Given the description of an element on the screen output the (x, y) to click on. 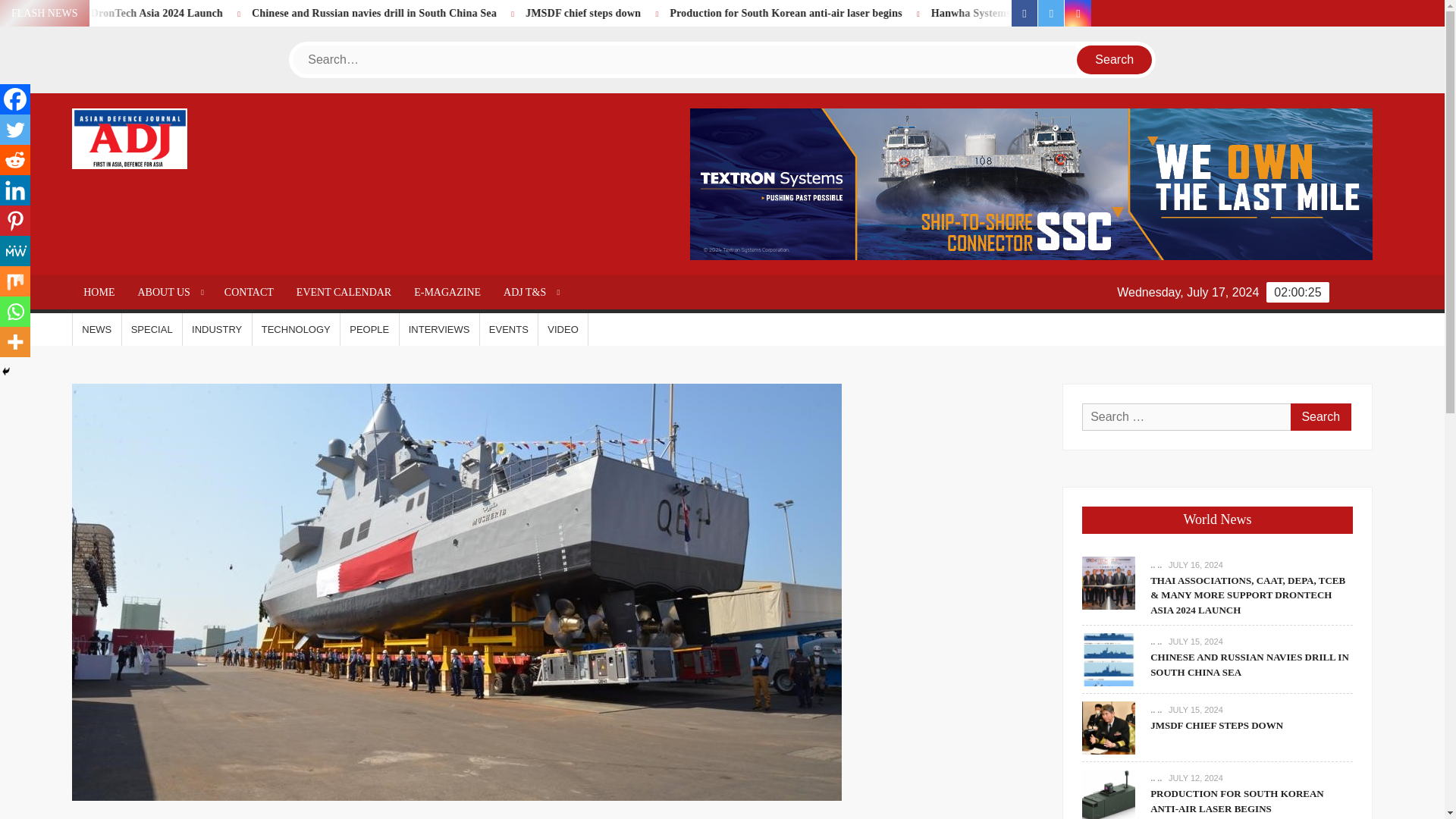
Chinese and Russian navies drill in South China Sea (521, 12)
Search (1320, 416)
Chinese and Russian navies drill in South China Sea (558, 12)
Production for South Korean anti-air laser begins (966, 12)
JMSDF chief steps down (765, 12)
Search (1320, 416)
Production for South Korean anti-air laser begins (929, 12)
JMSDF chief steps down (729, 12)
Search (1115, 59)
Search (1115, 59)
